Given the description of an element on the screen output the (x, y) to click on. 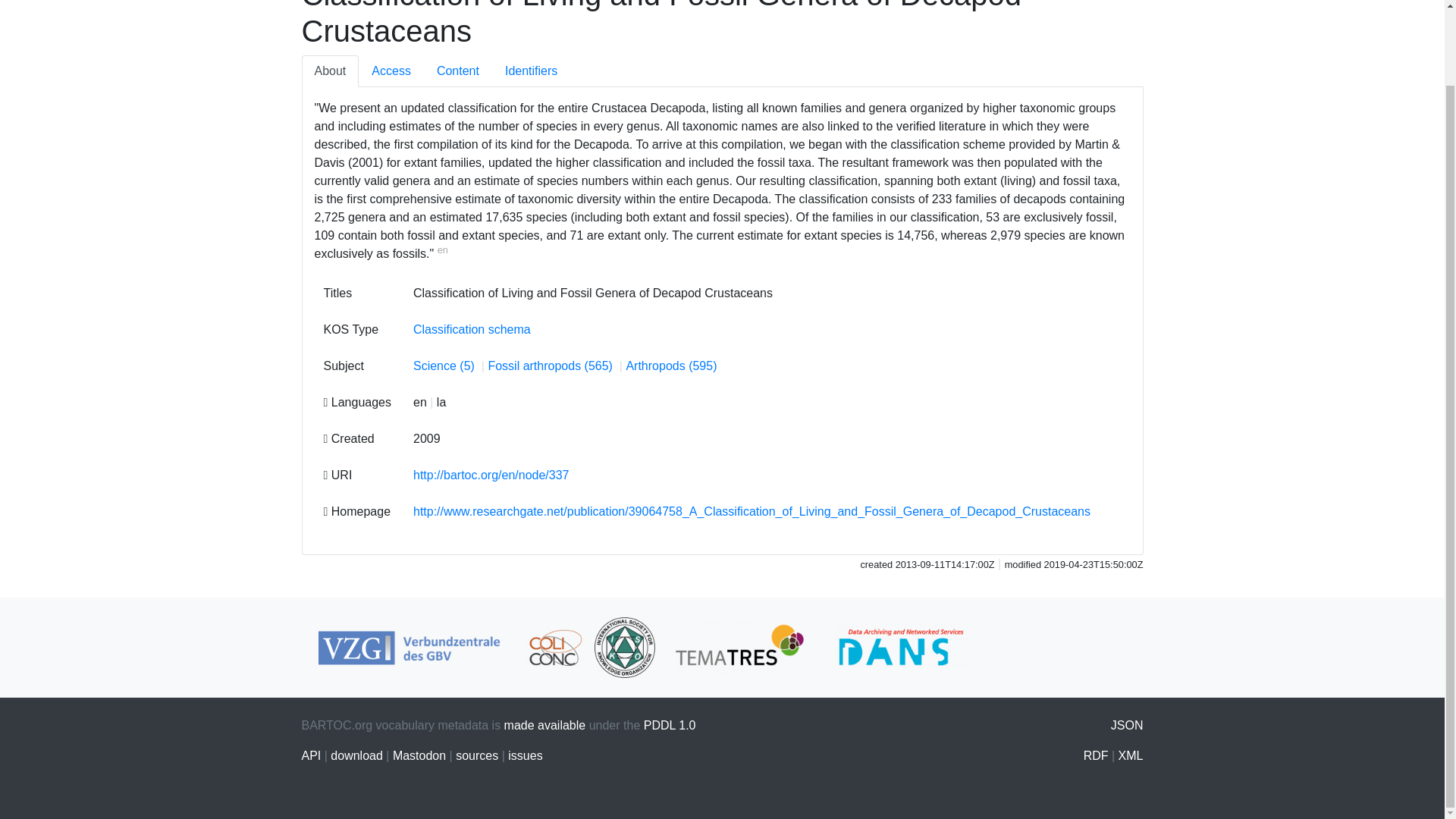
download (356, 755)
About (330, 70)
PDDL 1.0 (669, 725)
sources (476, 755)
XML (1130, 755)
Mastodon (419, 755)
JSON (1126, 725)
Content (457, 70)
issues (524, 755)
RDF (1095, 755)
